Given the description of an element on the screen output the (x, y) to click on. 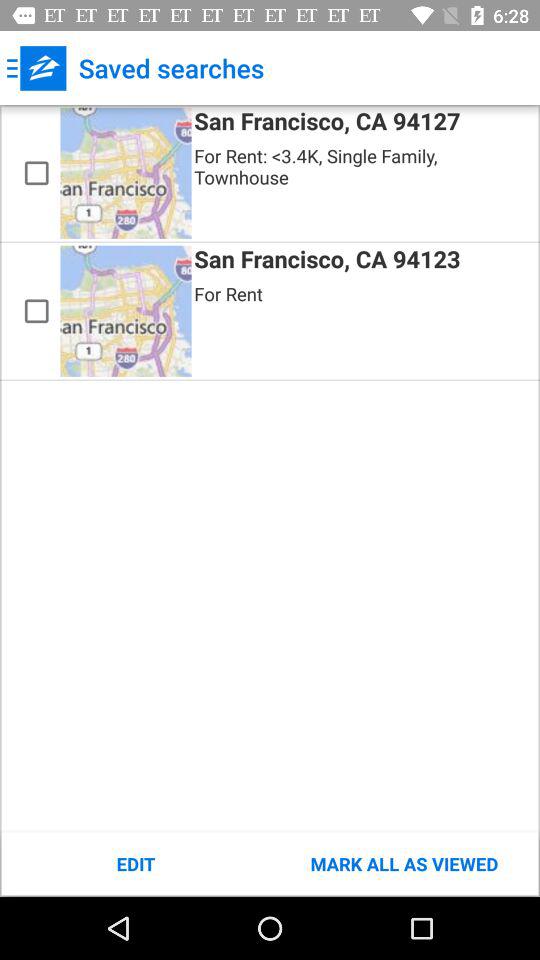
open the icon to the right of edit (404, 863)
